Given the description of an element on the screen output the (x, y) to click on. 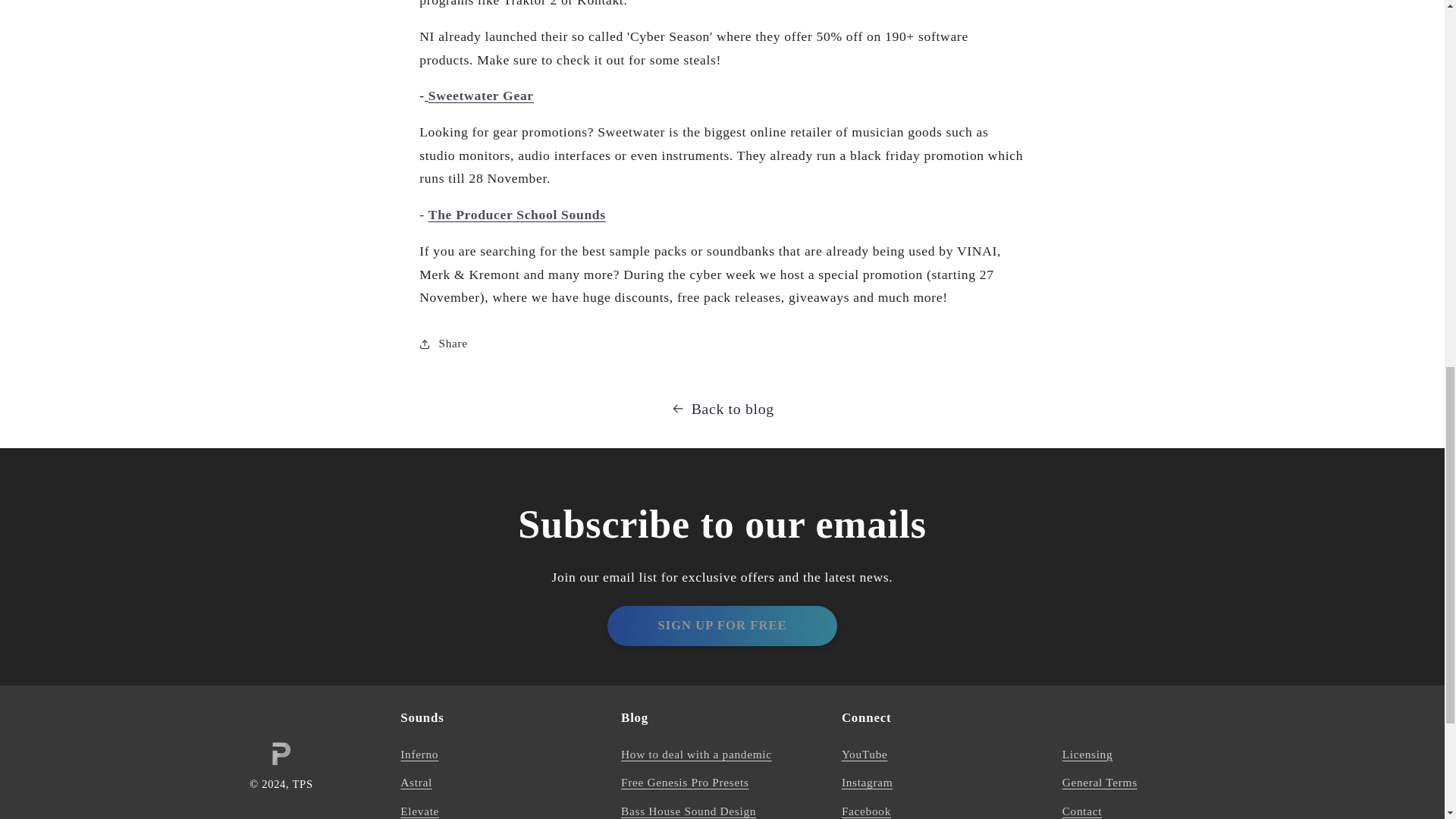
How to deal with a pandemic (696, 756)
Astral (416, 783)
TPS (302, 784)
Elevate (419, 808)
Inferno (419, 756)
SIGN UP FOR FREE (721, 626)
Sweetwater Gear (481, 95)
The Producer School Sounds (516, 214)
